Given the description of an element on the screen output the (x, y) to click on. 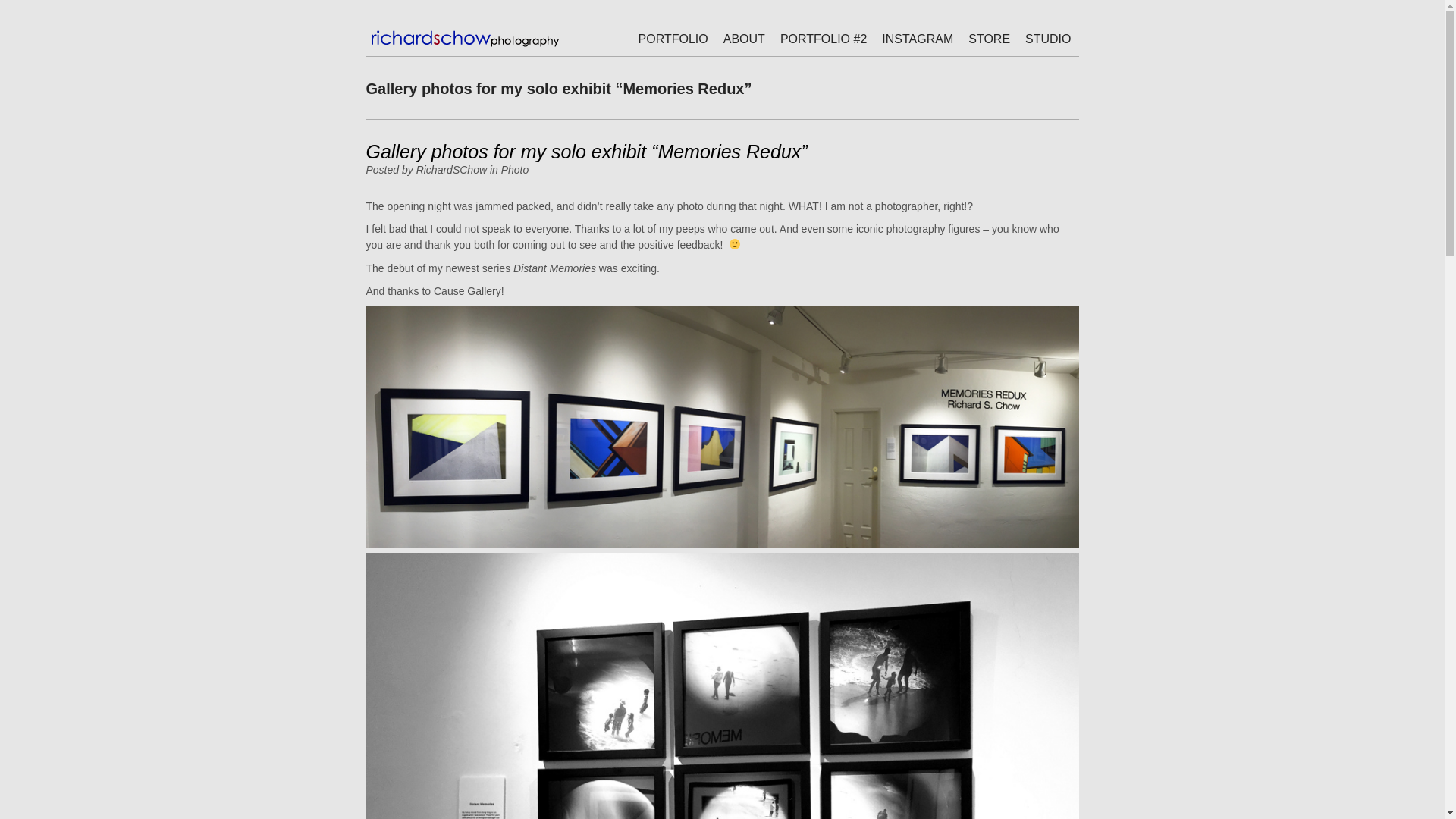
STORE (988, 39)
STUDIO (1047, 39)
PORTFOLIO (673, 39)
INSTAGRAM (917, 39)
ABOUT (744, 39)
